Given the description of an element on the screen output the (x, y) to click on. 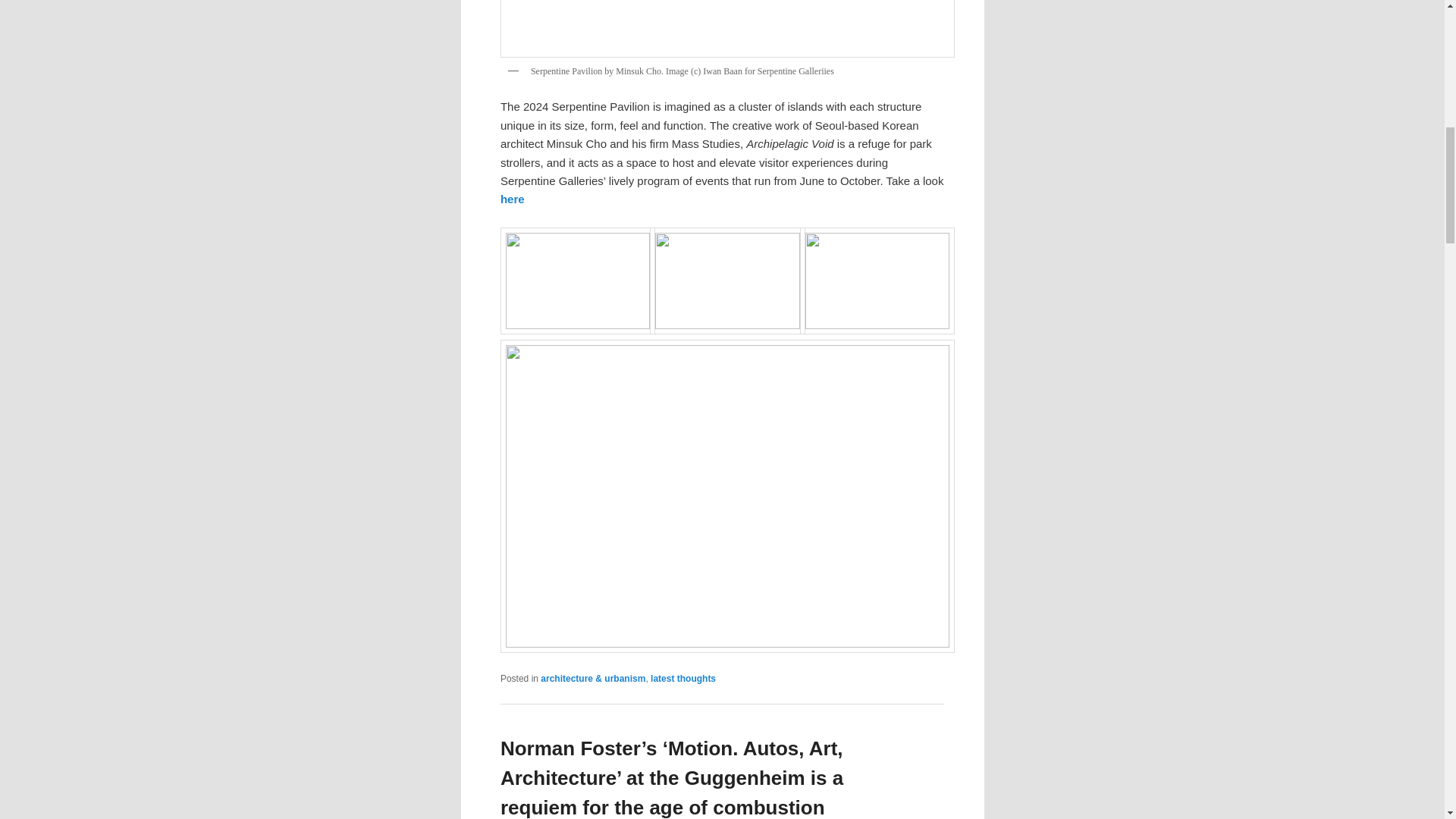
here (512, 198)
latest thoughts (683, 678)
